Given the description of an element on the screen output the (x, y) to click on. 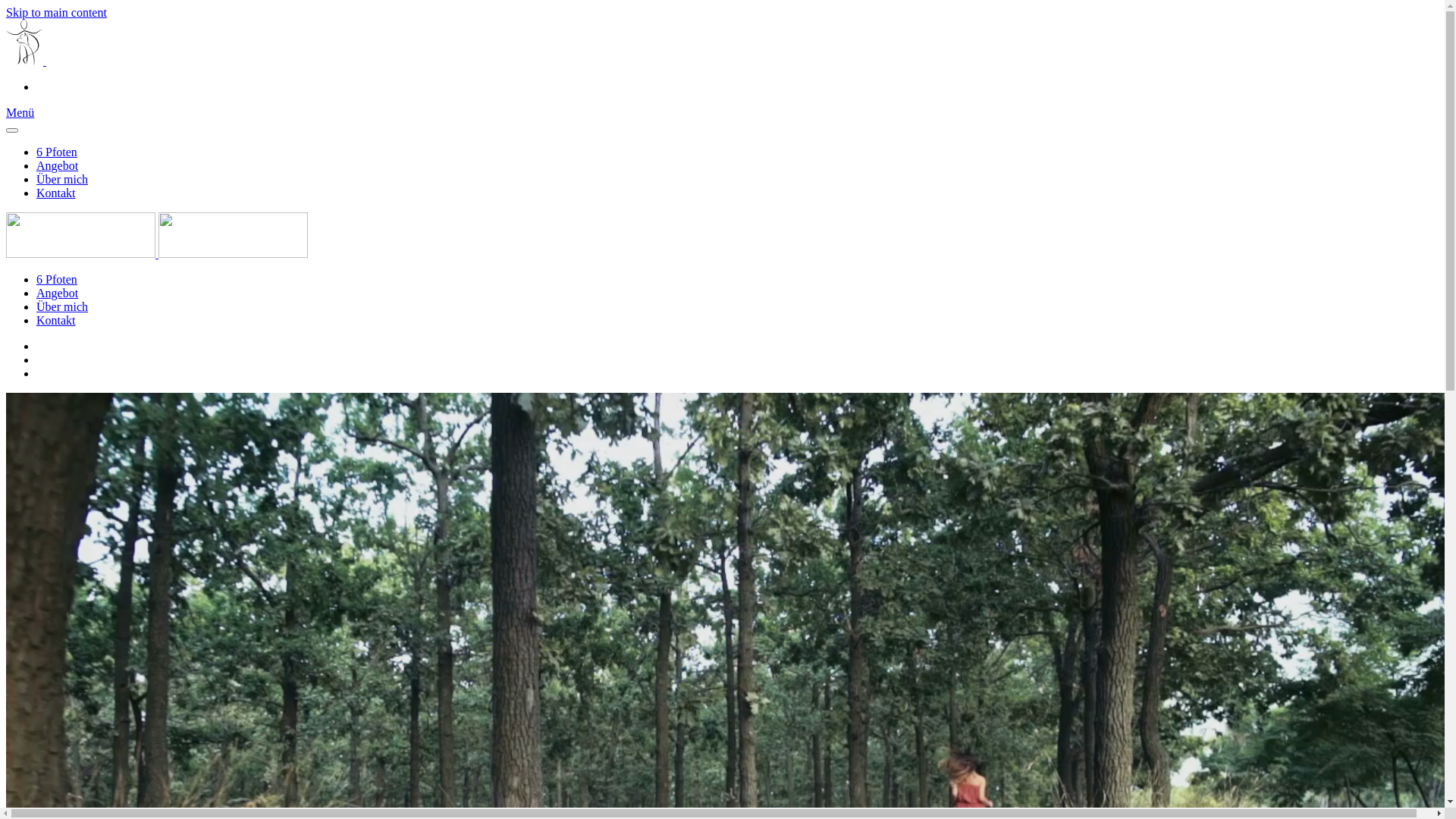
Skip to main content Element type: text (56, 12)
Angebot Element type: text (57, 292)
Kontakt Element type: text (55, 319)
6 Pfoten Element type: text (56, 279)
Angebot Element type: text (57, 165)
6 Pfoten Element type: text (56, 151)
Kontakt Element type: text (55, 192)
